Given the description of an element on the screen output the (x, y) to click on. 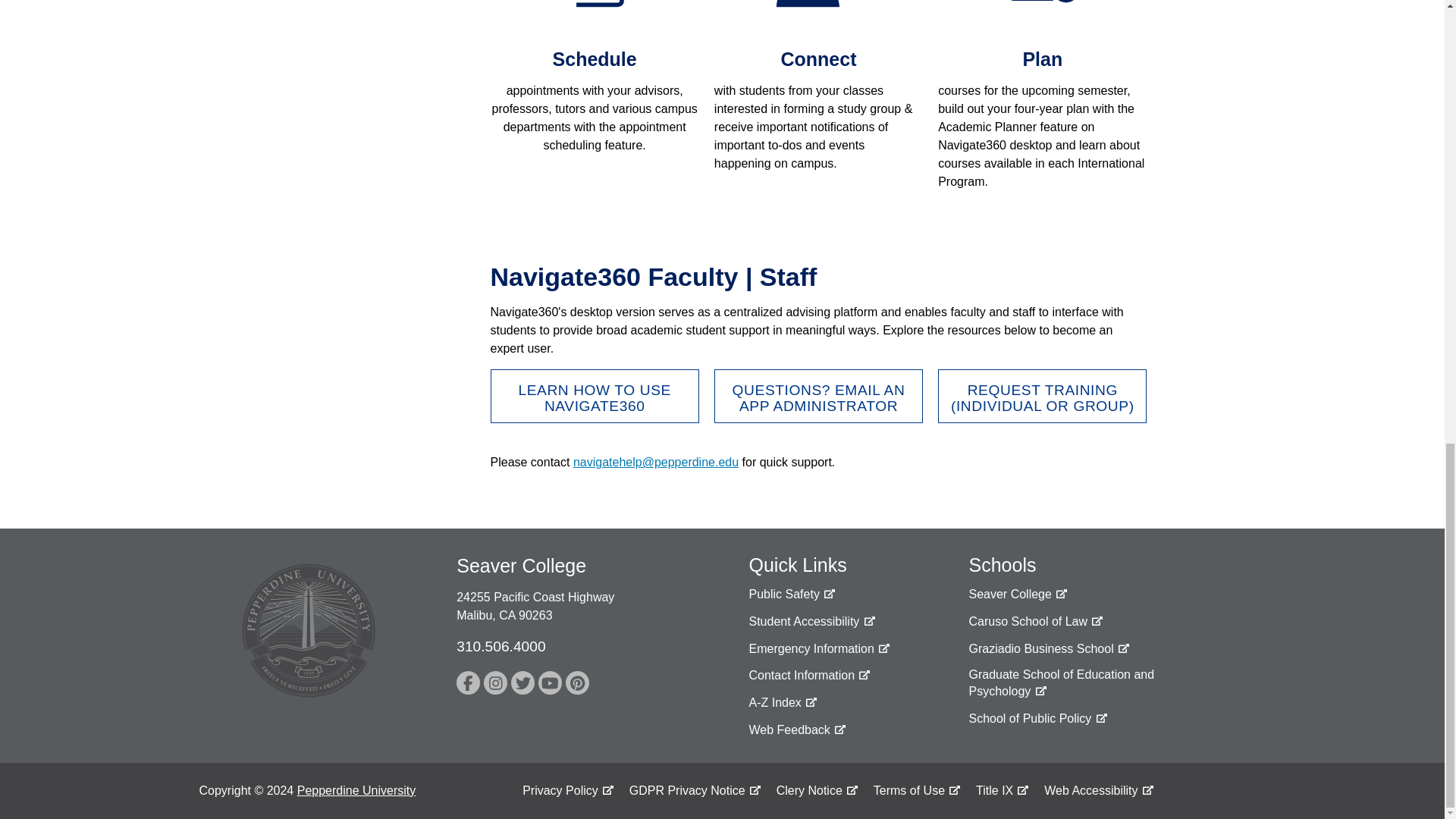
Link to External Site (1042, 396)
Link to External Site (818, 648)
Link to External Site (593, 396)
Link to External Site (790, 594)
Email (818, 396)
Link to External Site (811, 621)
Email (655, 461)
